Given the description of an element on the screen output the (x, y) to click on. 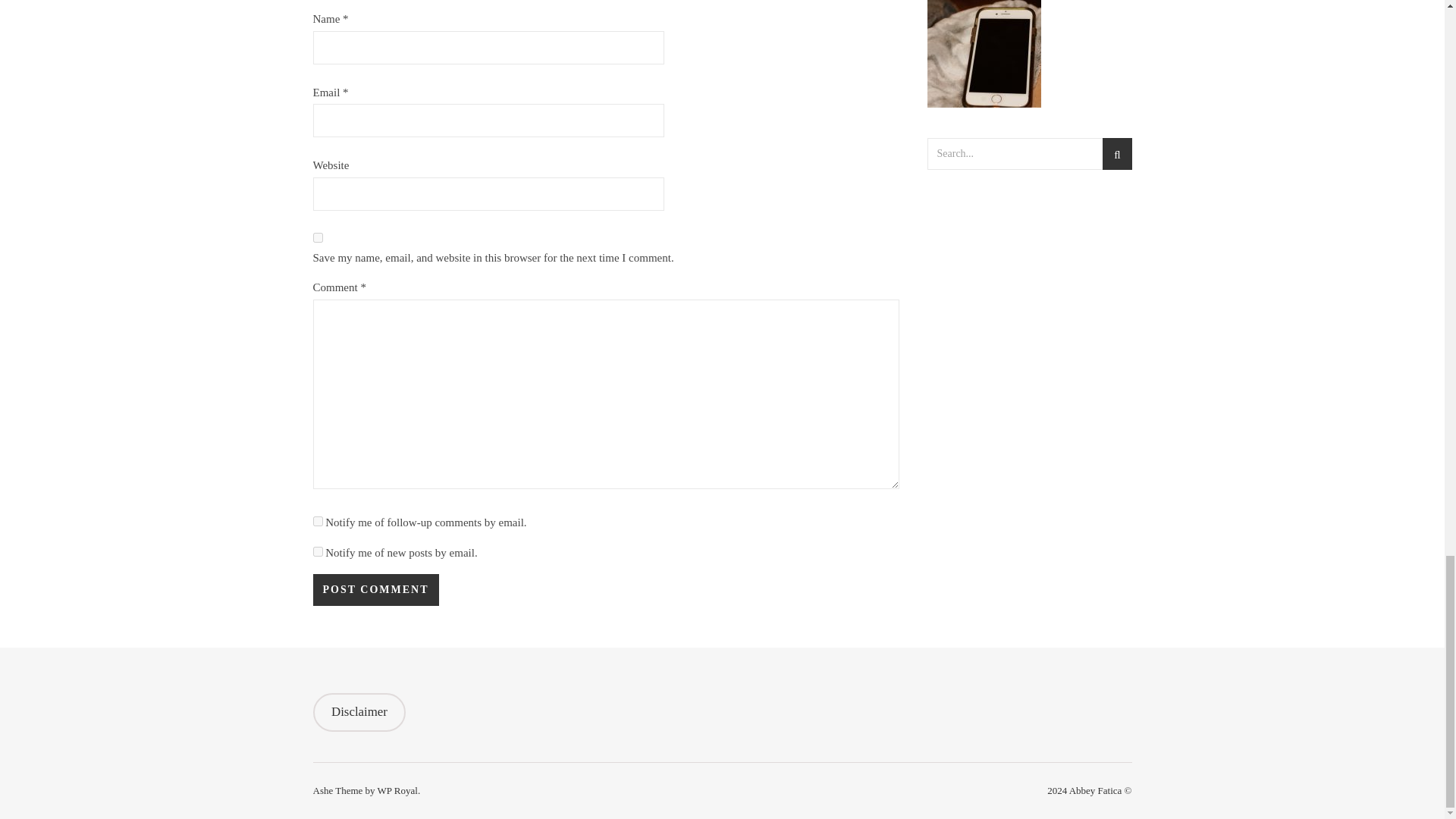
subscribe (317, 521)
subscribe (317, 551)
yes (317, 237)
Facebook Has Taken Over Our Lives! (1028, 61)
Post Comment (375, 590)
